Given the description of an element on the screen output the (x, y) to click on. 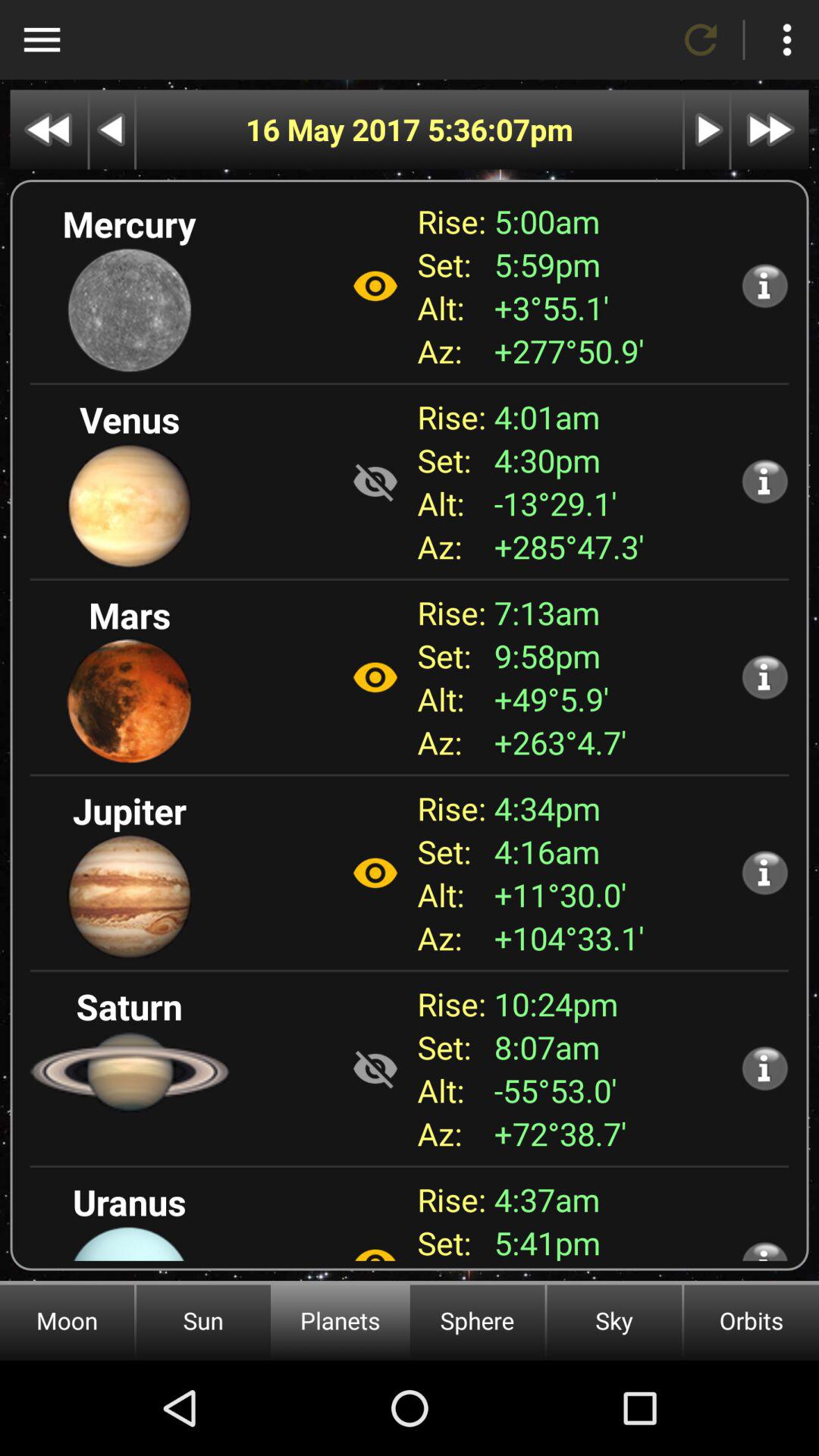
visible eye button (375, 872)
